Given the description of an element on the screen output the (x, y) to click on. 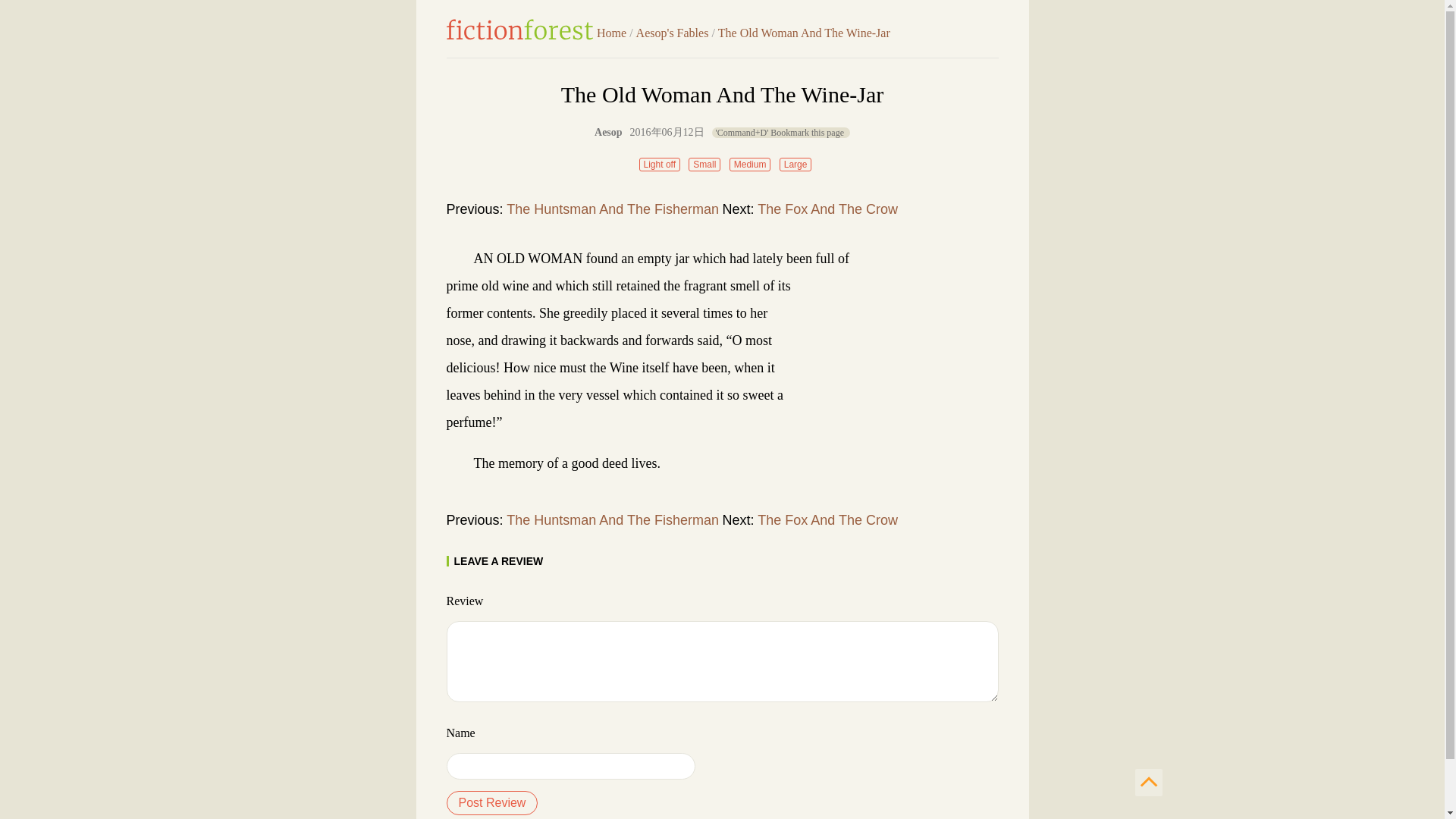
The Fox And The Crow (827, 519)
Home (611, 32)
The Huntsman And The Fisherman (612, 519)
The Huntsman And The Fisherman (612, 209)
Post Review (491, 802)
The Old Woman And The Wine-Jar (803, 32)
Post Review (491, 802)
The Fox And The Crow (827, 209)
FictionForest (518, 29)
Aesop's Fables (672, 32)
